Given the description of an element on the screen output the (x, y) to click on. 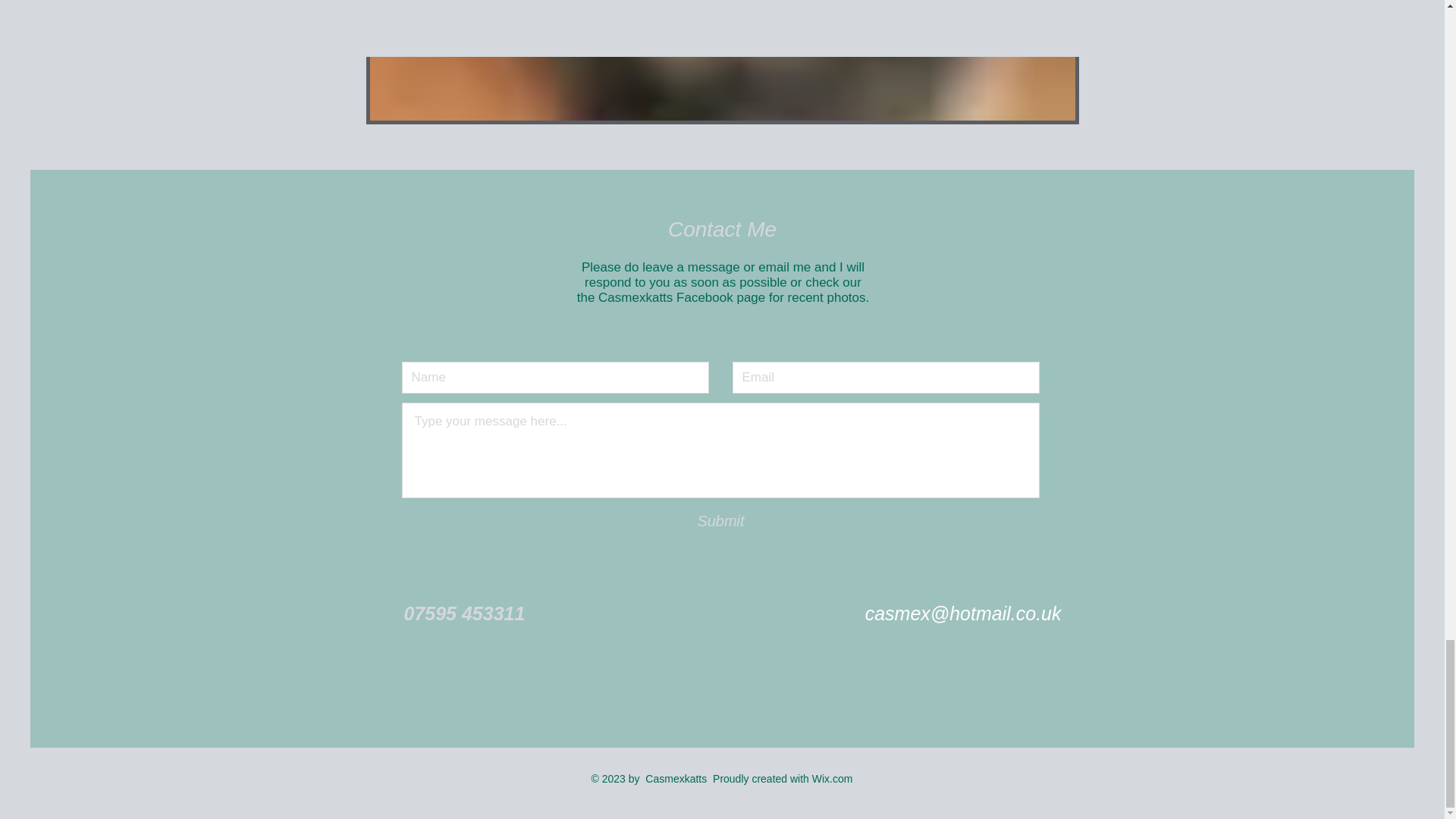
Submit (720, 521)
Wix.com (832, 778)
